Given the description of an element on the screen output the (x, y) to click on. 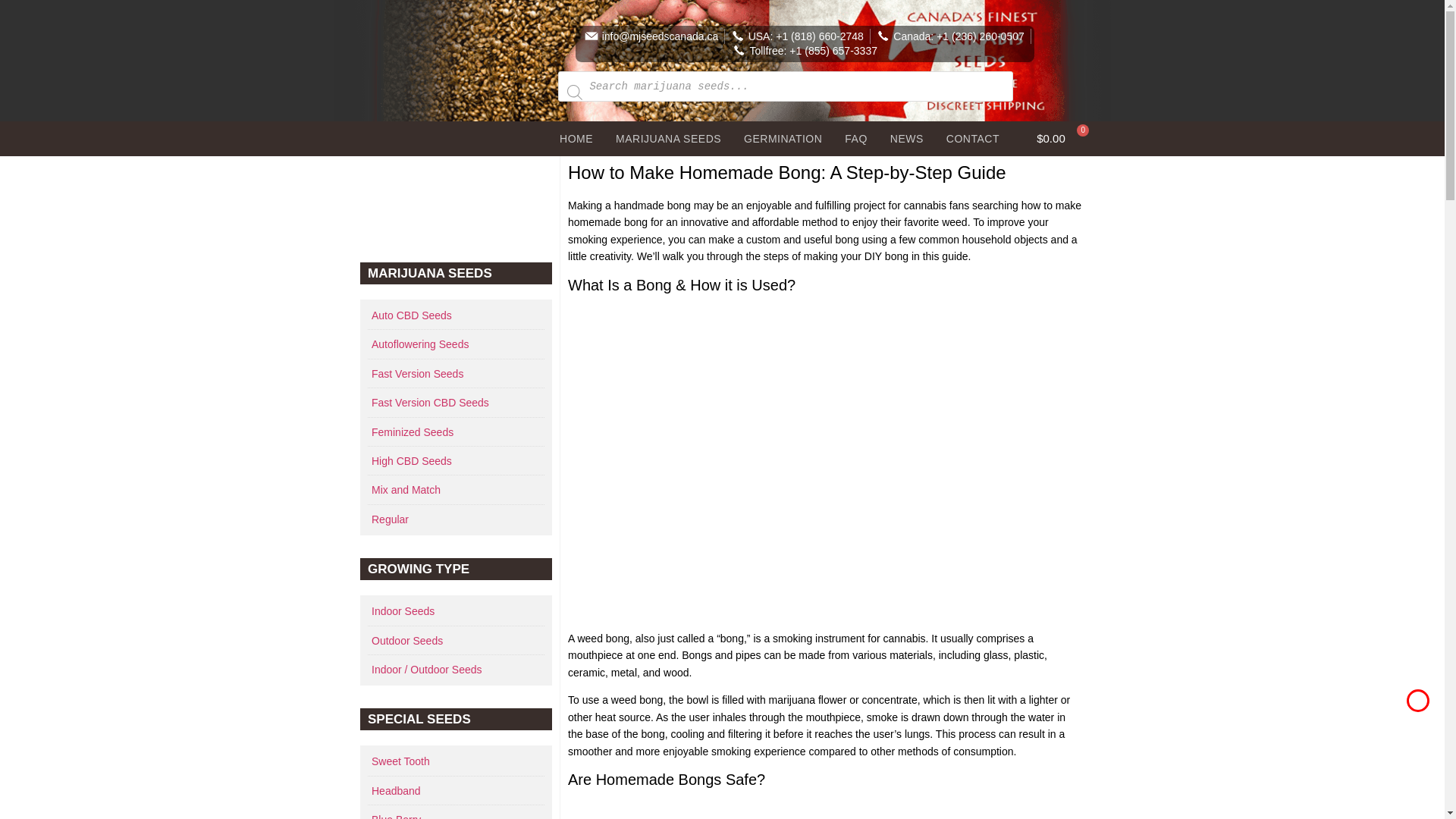
HOME (576, 138)
MARIJUANA SEEDS (668, 138)
CONTACT (972, 138)
mjsc-live-chat-sidebar (455, 205)
GERMINATION (782, 138)
mjseedsca-logo-footer (464, 87)
FAQ (855, 138)
NEWS (906, 138)
